Given the description of an element on the screen output the (x, y) to click on. 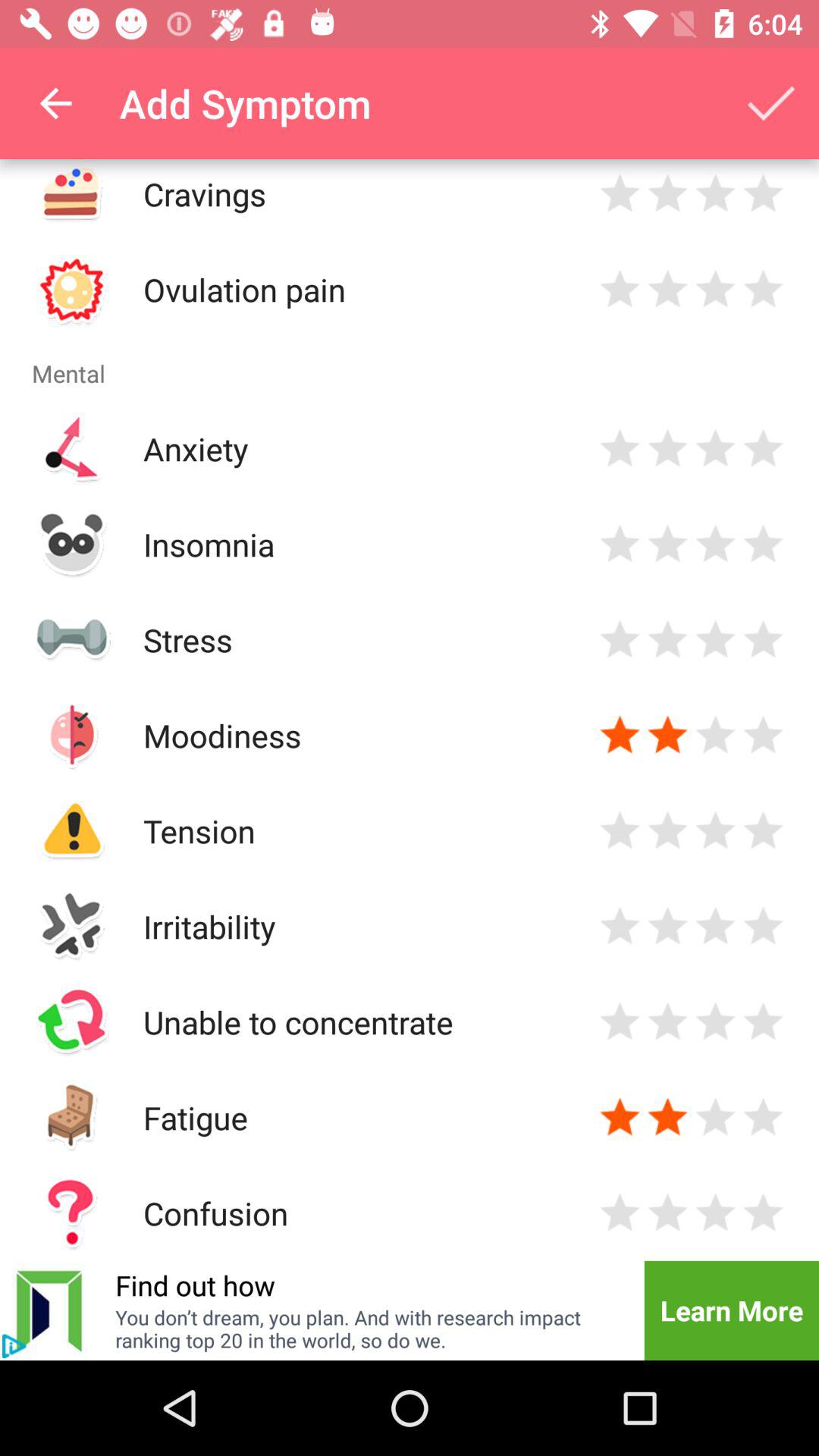
star rating (619, 735)
